Given the description of an element on the screen output the (x, y) to click on. 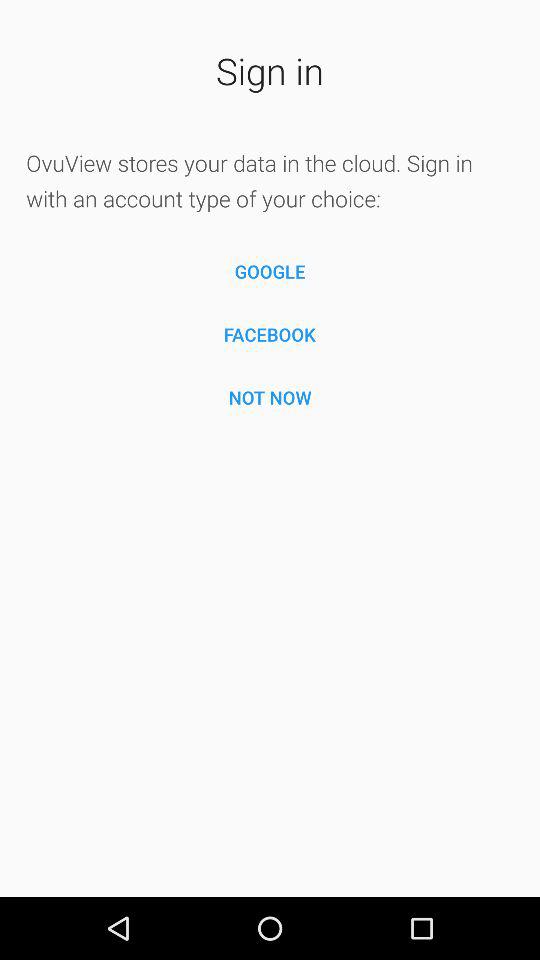
select the item above facebook icon (269, 271)
